Given the description of an element on the screen output the (x, y) to click on. 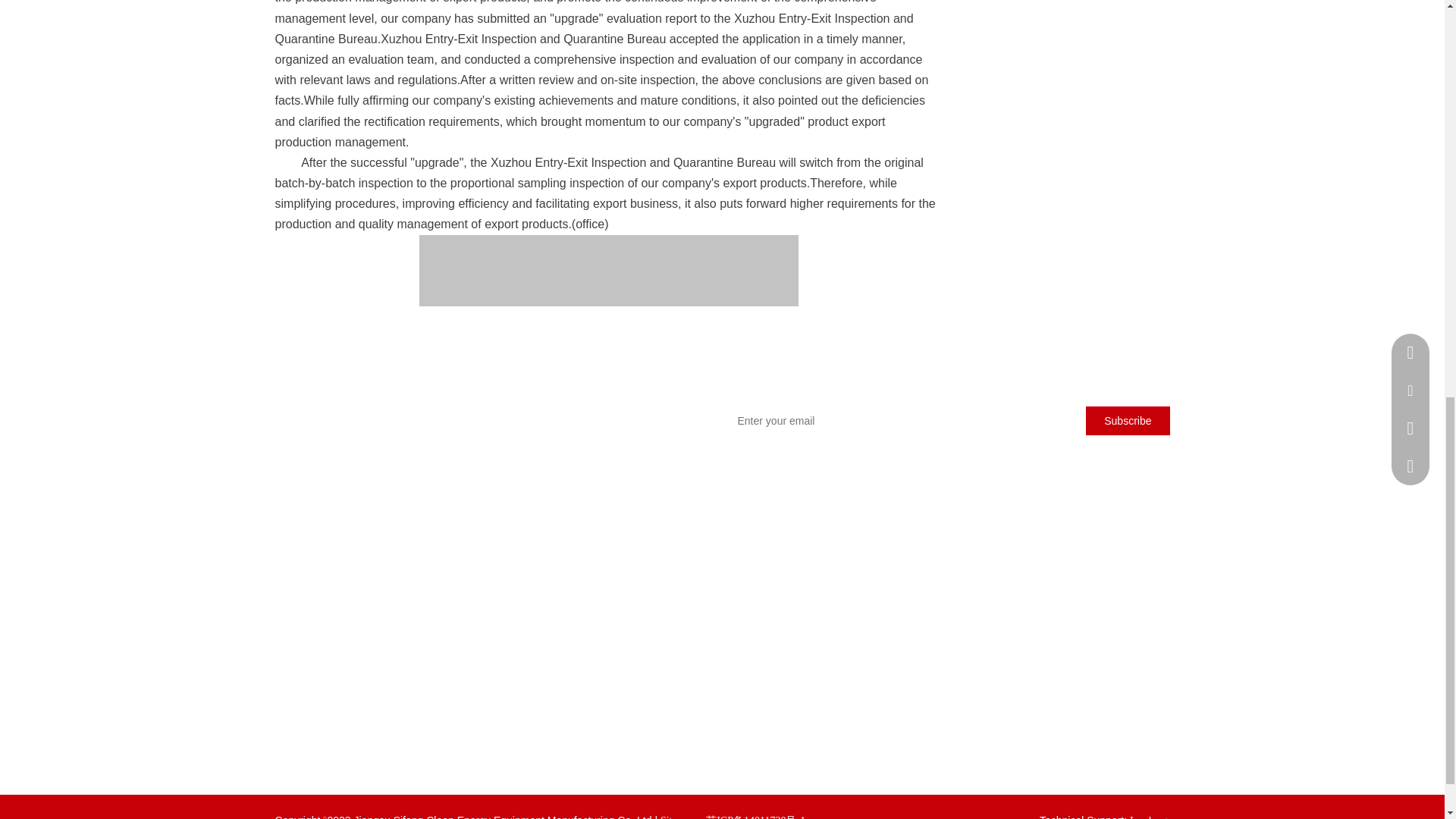
Coal Fired boiler (311, 620)
About Us (446, 645)
Worry-free after-sales (624, 619)
Solution (443, 696)
Waste Heat Boiler (313, 673)
Biomass Boiler (307, 699)
News (437, 670)
Home (438, 619)
Pressure Vessel (307, 726)
Subscribe (1127, 420)
